Given the description of an element on the screen output the (x, y) to click on. 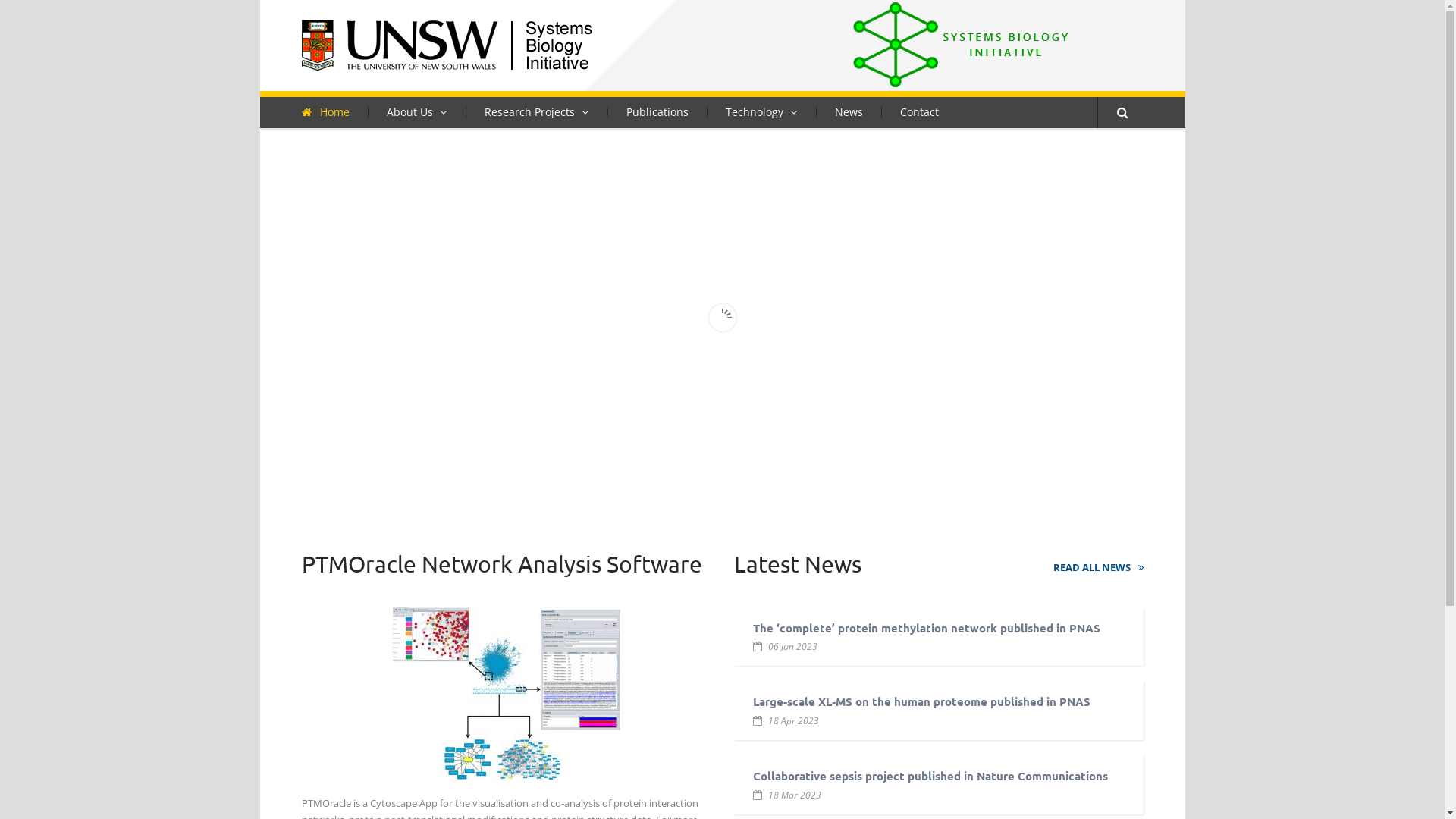
Research Projects Element type: text (536, 111)
READ ALL NEWS Element type: text (1097, 567)
News Element type: text (848, 111)
Contact Element type: text (919, 111)
LEARN MORE Element type: text (337, 416)
 Home Element type: text (334, 111)
Publications Element type: text (656, 111)
slider-project1 Element type: hover (721, 316)
About Us Element type: text (415, 111)
Technology Element type: text (760, 111)
Large-scale XL-MS on the human proteome published in PNAS Element type: text (920, 701)
